Given the description of an element on the screen output the (x, y) to click on. 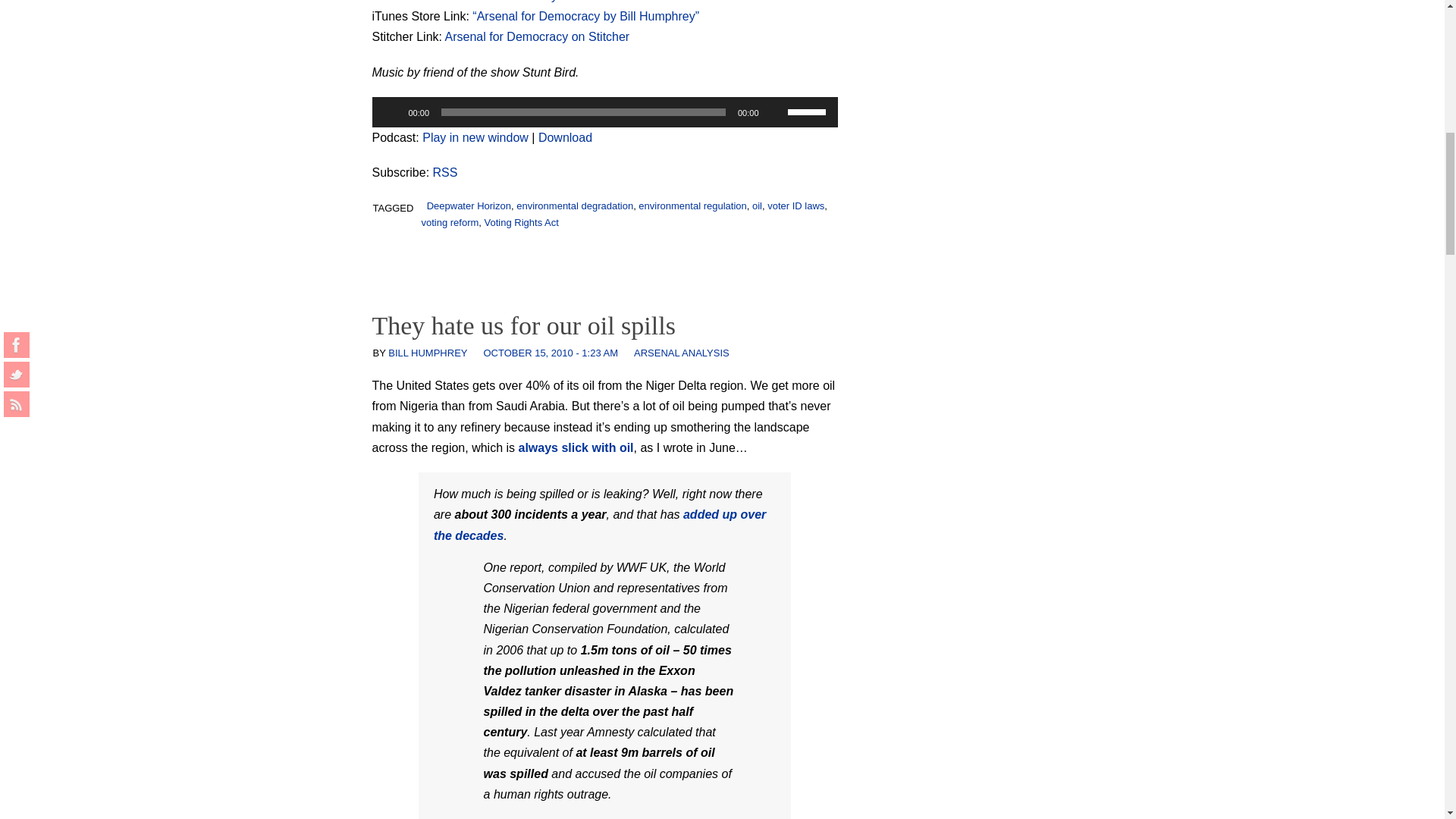
Play in new window (475, 137)
Subscribe via RSS (445, 172)
Mute (775, 111)
Download (565, 137)
Arsenal for Democracy Feedburner (528, 1)
View all posts by Bill Humphrey (427, 352)
Play (391, 111)
Permalink to They hate us for our oil spills (523, 325)
Arsenal for Democracy on Stitcher (537, 36)
Play in new window (475, 137)
